Given the description of an element on the screen output the (x, y) to click on. 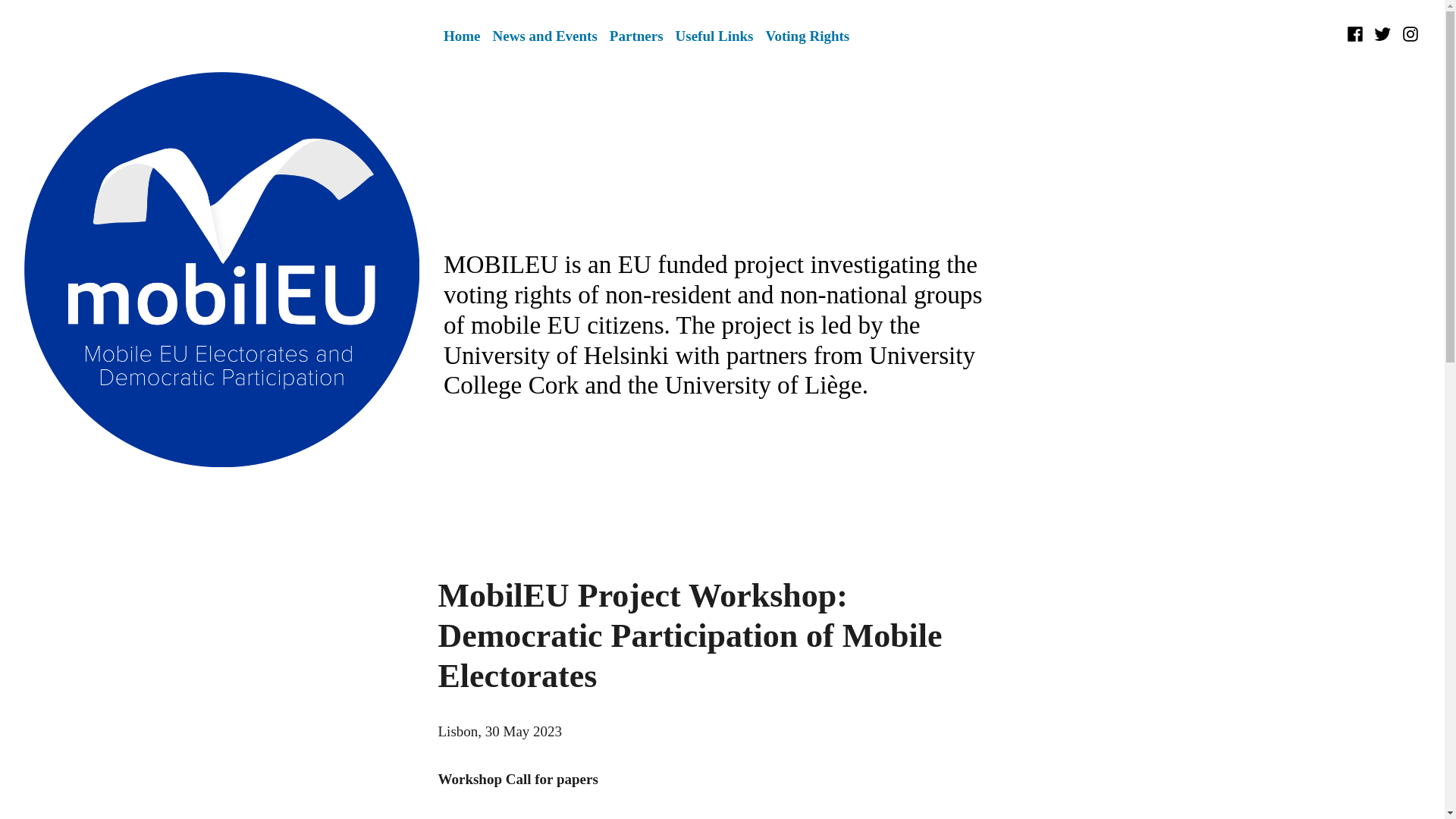
Useful Links (714, 35)
Twitter (1382, 34)
Partners (636, 35)
Facebook (1356, 34)
Home (462, 35)
Instagram (1408, 34)
Voting Rights (808, 35)
News and Events (545, 35)
